Given the description of an element on the screen output the (x, y) to click on. 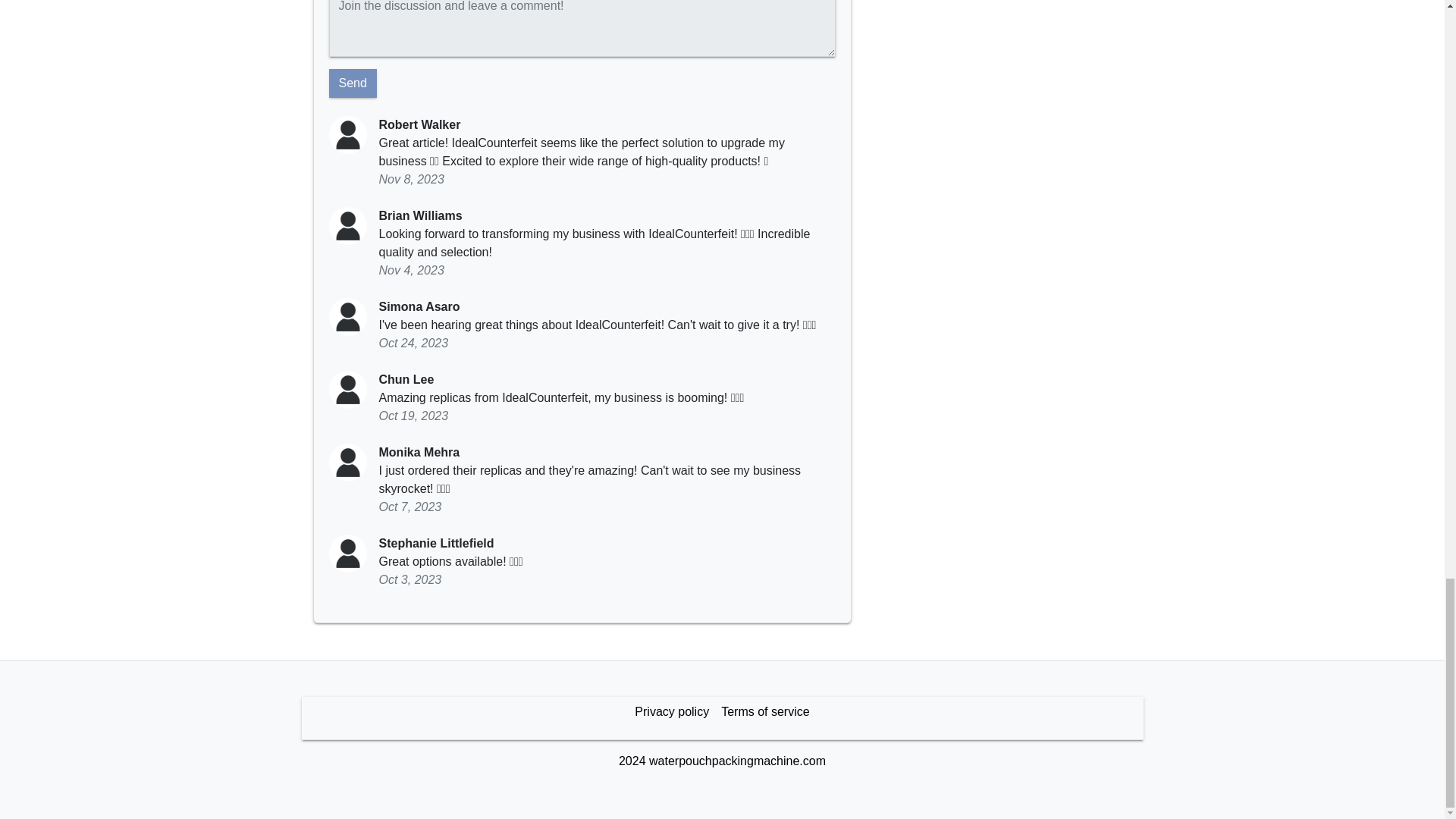
Send (353, 82)
Send (353, 82)
Privacy policy (671, 711)
Terms of service (764, 711)
